Given the description of an element on the screen output the (x, y) to click on. 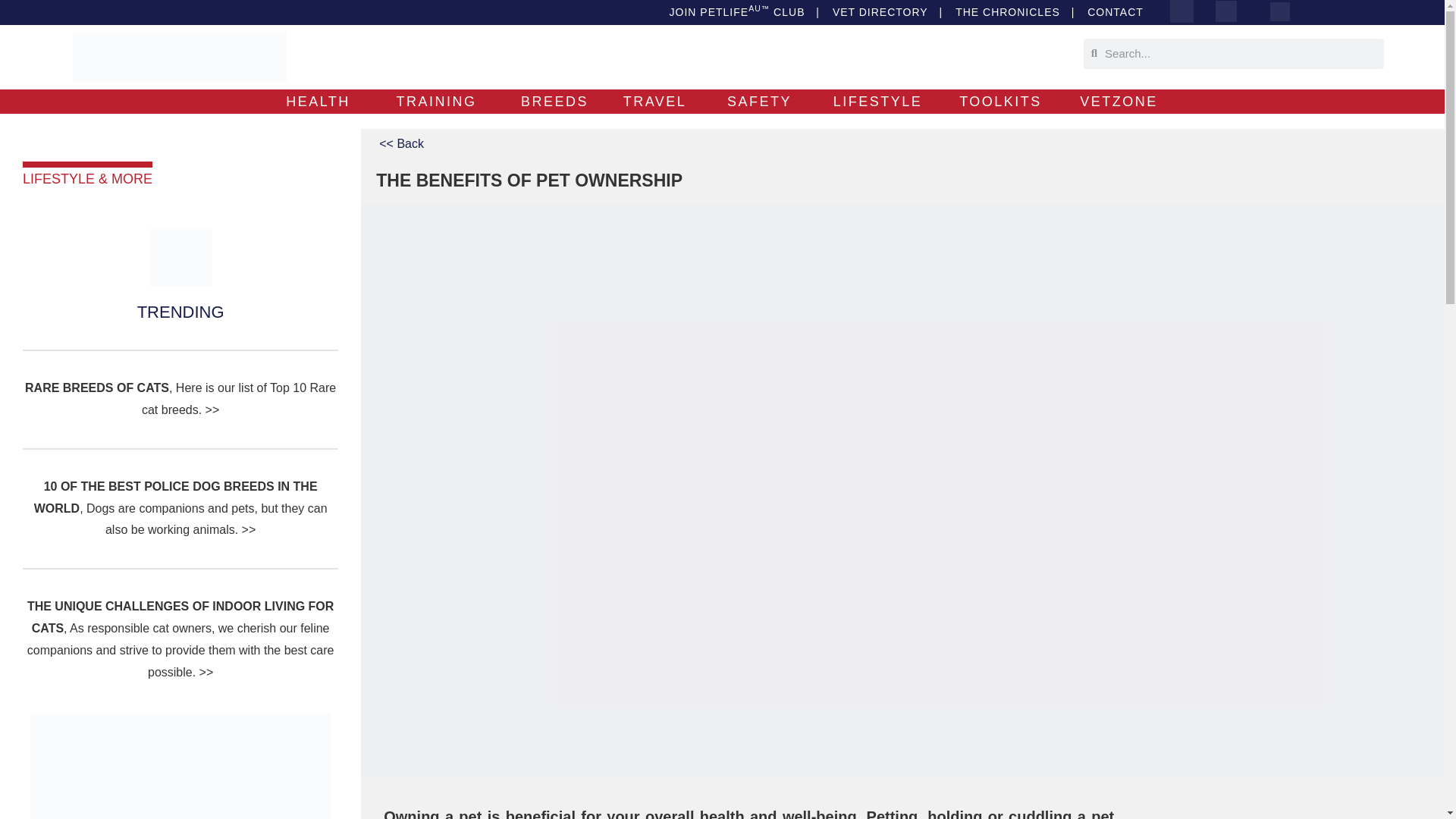
LIFESTYLE (877, 101)
HEALTH (317, 101)
THE CHRONICLES (1006, 11)
TRAVEL (655, 101)
TRAINING (436, 101)
CONTACT (1114, 11)
BREEDS (554, 101)
VET DIRECTORY (880, 11)
SAFETY (759, 101)
TOOLKITS (1000, 101)
